Given the description of an element on the screen output the (x, y) to click on. 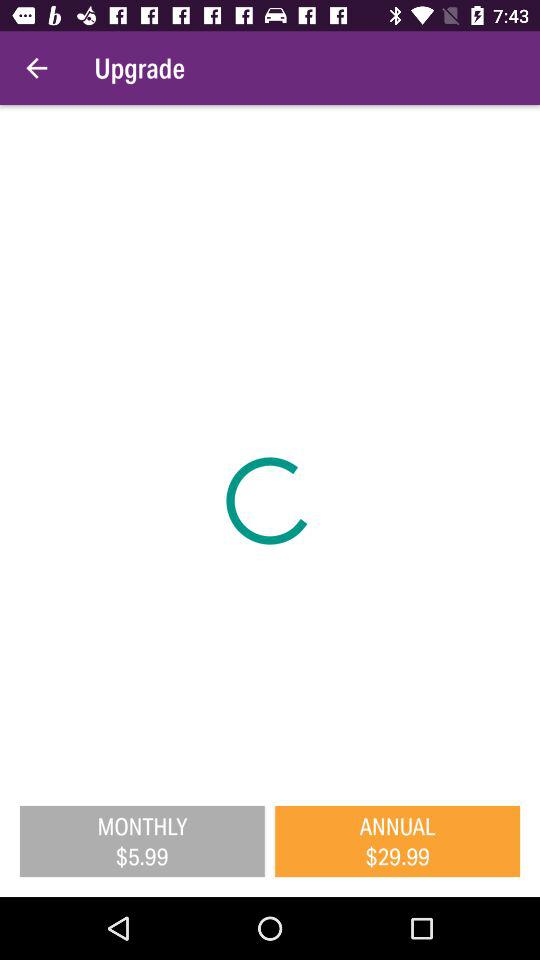
launch the item next to annual
$29.99 (141, 841)
